Given the description of an element on the screen output the (x, y) to click on. 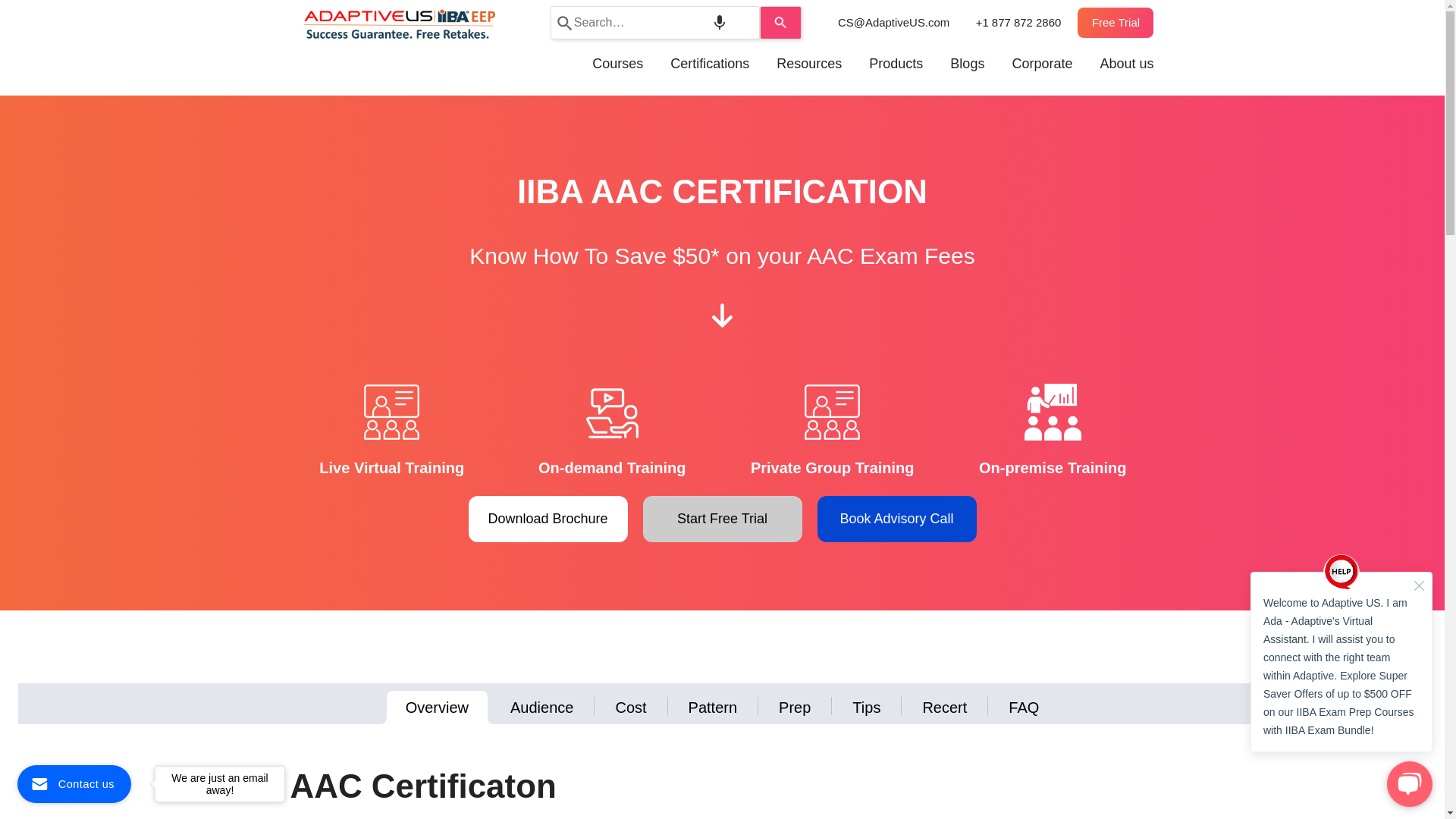
Free Trial (1115, 21)
Courses (617, 63)
AdaptiveUS (398, 22)
Free Trial (1115, 21)
Search (781, 22)
